Given the description of an element on the screen output the (x, y) to click on. 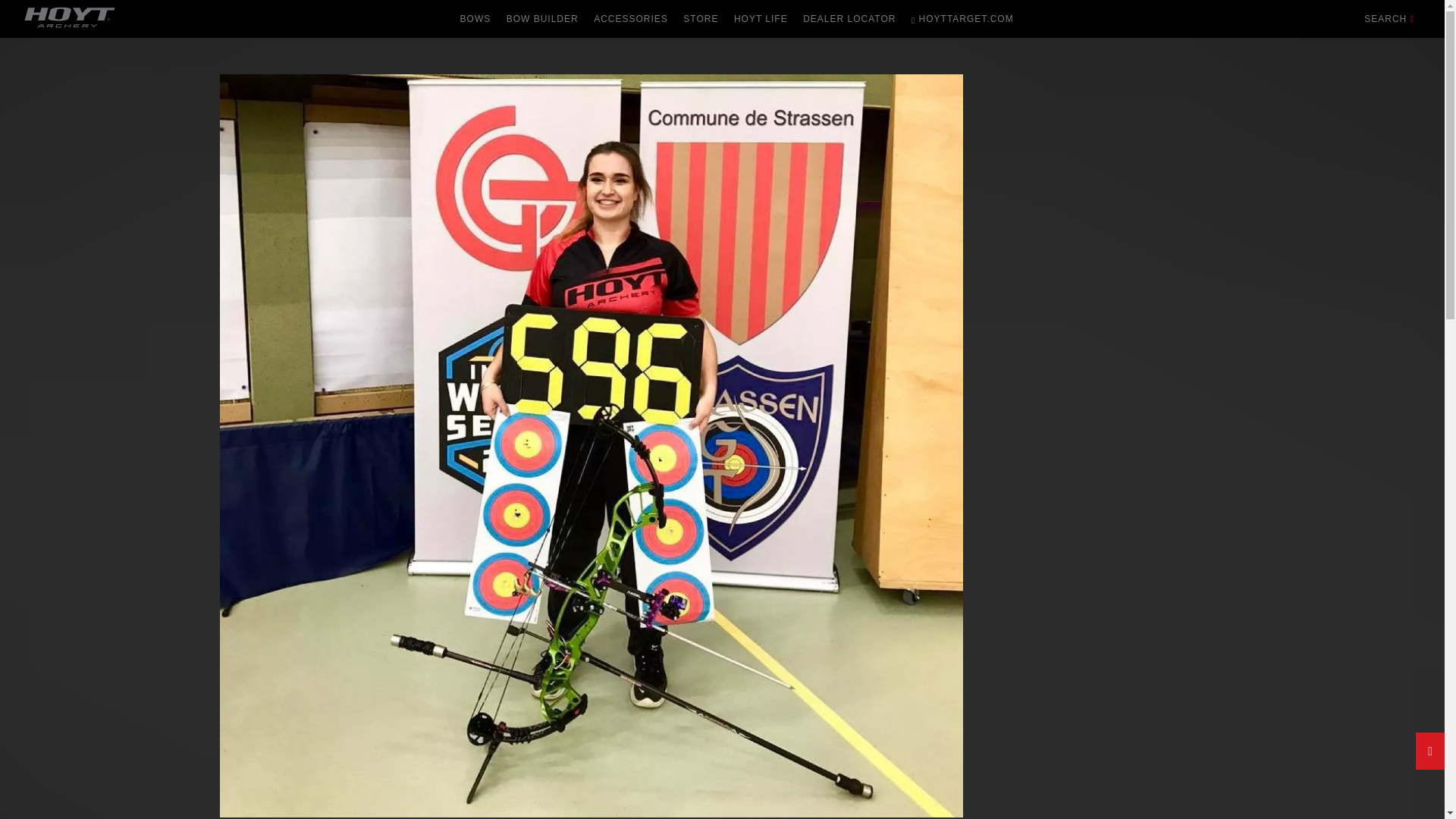
Hoyt Dealers (848, 18)
Hoyt Bow Builder (542, 18)
HOYTTARGET.COM (962, 18)
BOW BUILDER (542, 18)
ACCESSORIES (631, 18)
Home (69, 28)
HOYT LIFE (760, 18)
Accessories (631, 18)
BOWS (475, 18)
HoytTarget.com (962, 18)
